Given the description of an element on the screen output the (x, y) to click on. 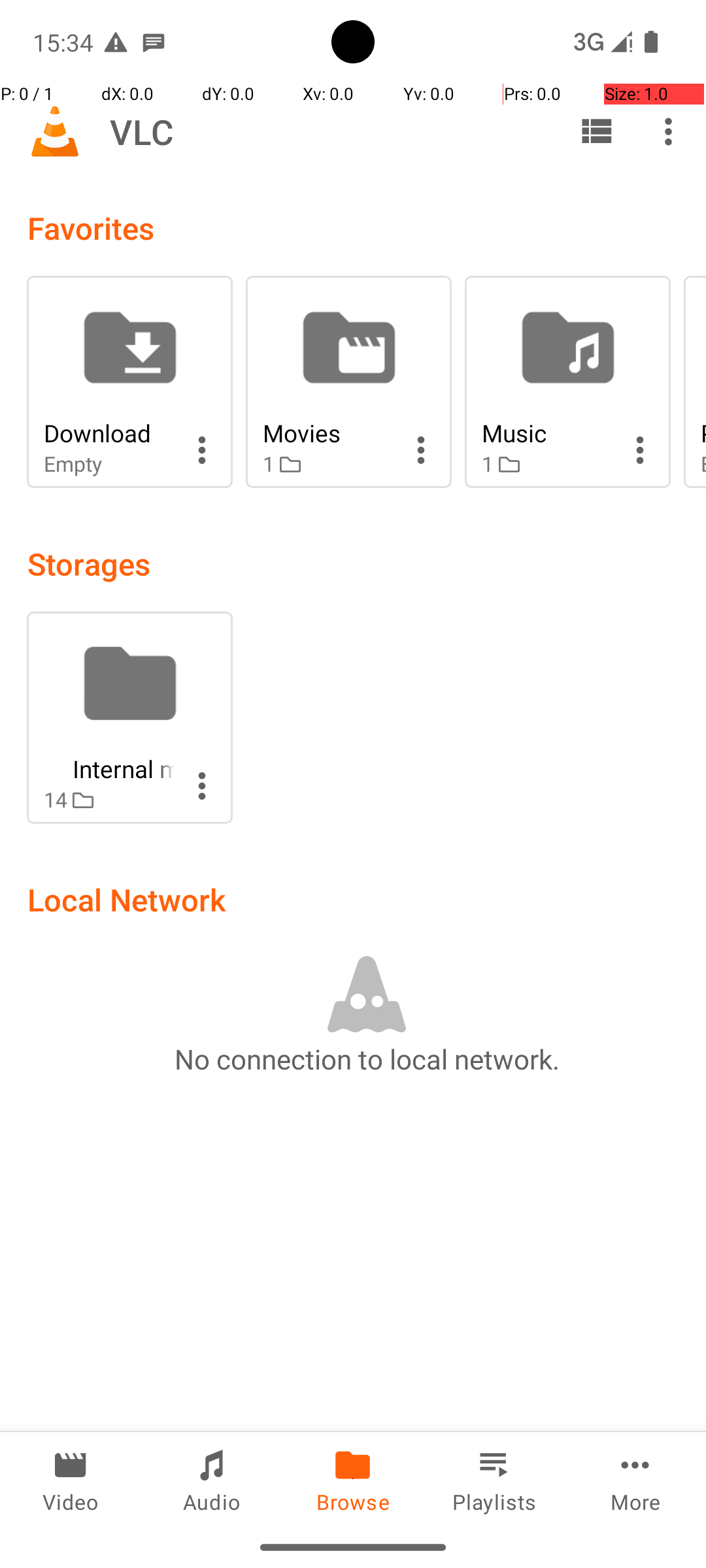
Display in list Element type: android.widget.TextView (595, 131)
Storages Element type: android.widget.TextView (88, 563)
Local Network Element type: android.widget.TextView (126, 898)
No connection to local network. Element type: android.widget.TextView (366, 1058)
Favorite: Download, Empty Element type: androidx.cardview.widget.CardView (129, 381)
Favorite: Movies, 1 subfolder Element type: androidx.cardview.widget.CardView (348, 381)
Favorite: Music, 1 subfolder Element type: androidx.cardview.widget.CardView (567, 381)
Favorite: Podcasts, Empty Element type: androidx.cardview.widget.CardView (694, 381)
Folder: Internal memory, 14 subfolders Element type: androidx.cardview.widget.CardView (129, 717)
Empty Element type: android.widget.TextView (108, 463)
More Actions Element type: android.widget.ImageView (201, 449)
Movies Element type: android.widget.TextView (327, 432)
1 §*§ Element type: android.widget.TextView (327, 463)
Podcasts Element type: android.widget.TextView (703, 432)
Internal memory Element type: android.widget.TextView (108, 768)
14 §*§ Element type: android.widget.TextView (108, 799)
